Given the description of an element on the screen output the (x, y) to click on. 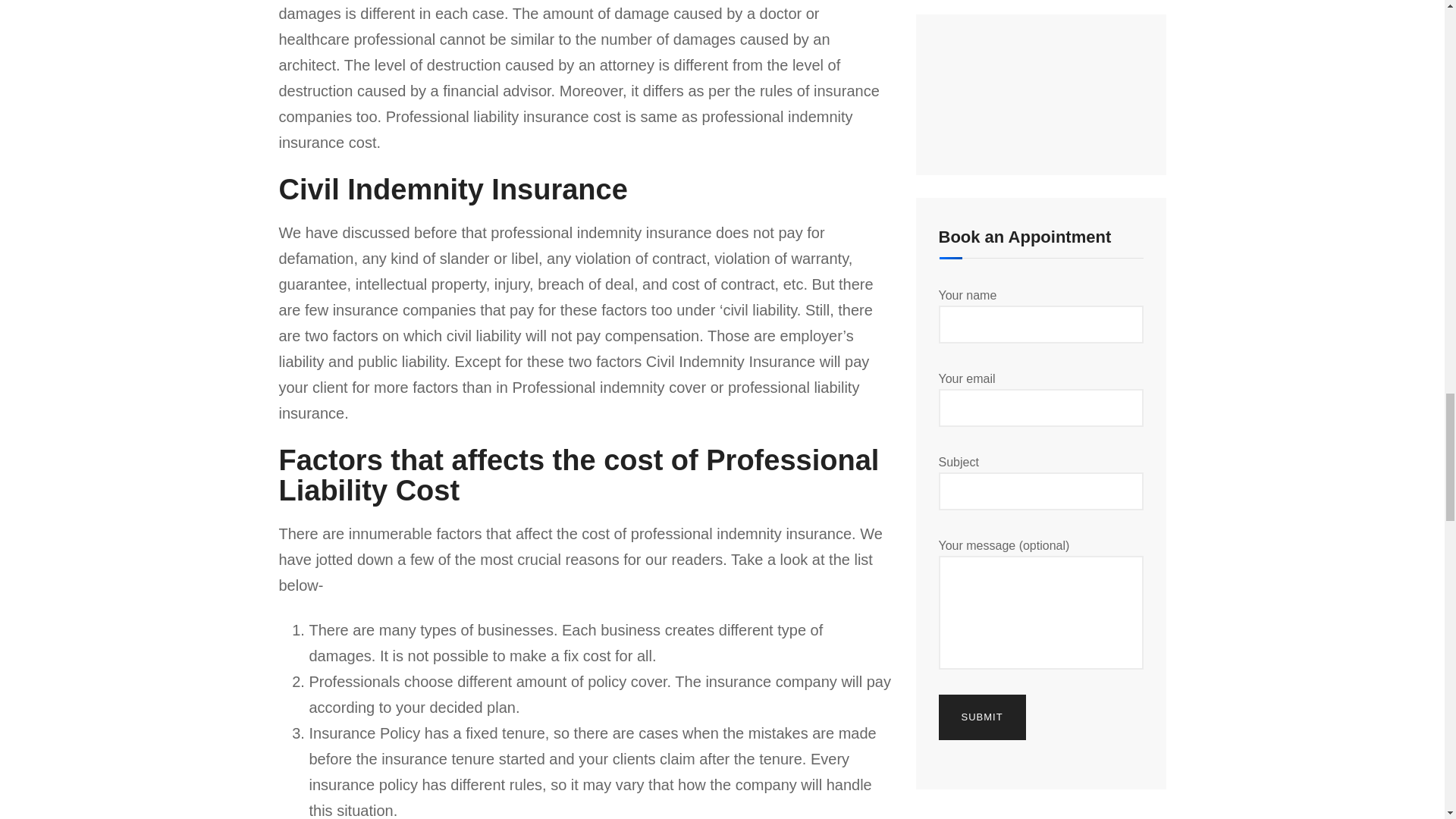
Submit (982, 717)
